Given the description of an element on the screen output the (x, y) to click on. 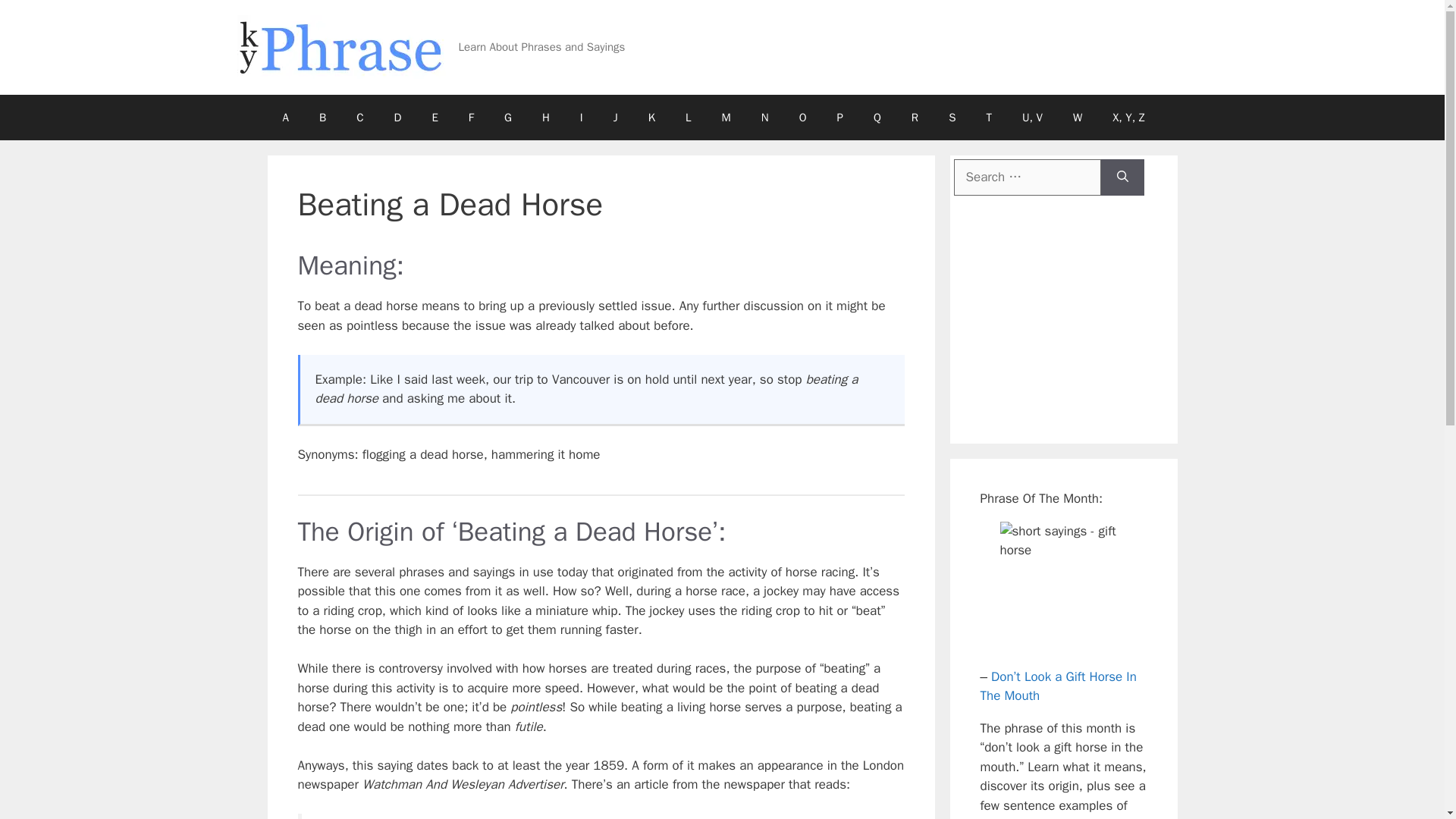
Search for: (1026, 176)
U, V (1032, 117)
X, Y, Z (1128, 117)
